Given the description of an element on the screen output the (x, y) to click on. 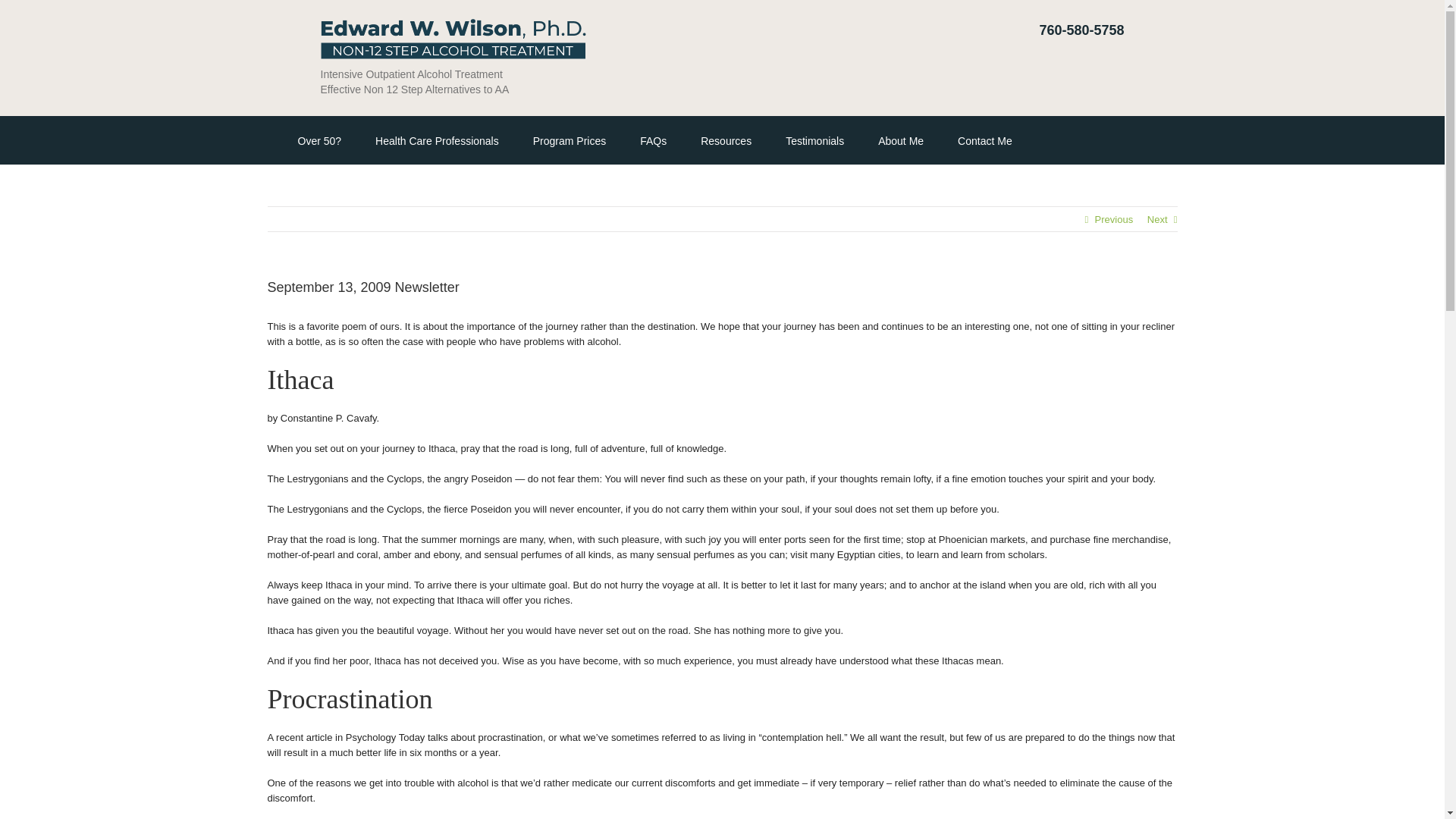
760-580-5758 (1081, 29)
Over 50? (318, 139)
Resources (725, 139)
Program Prices (568, 139)
Health Care Professionals (437, 139)
About Me (900, 139)
Contact Me (984, 139)
Testimonials (815, 139)
